Given the description of an element on the screen output the (x, y) to click on. 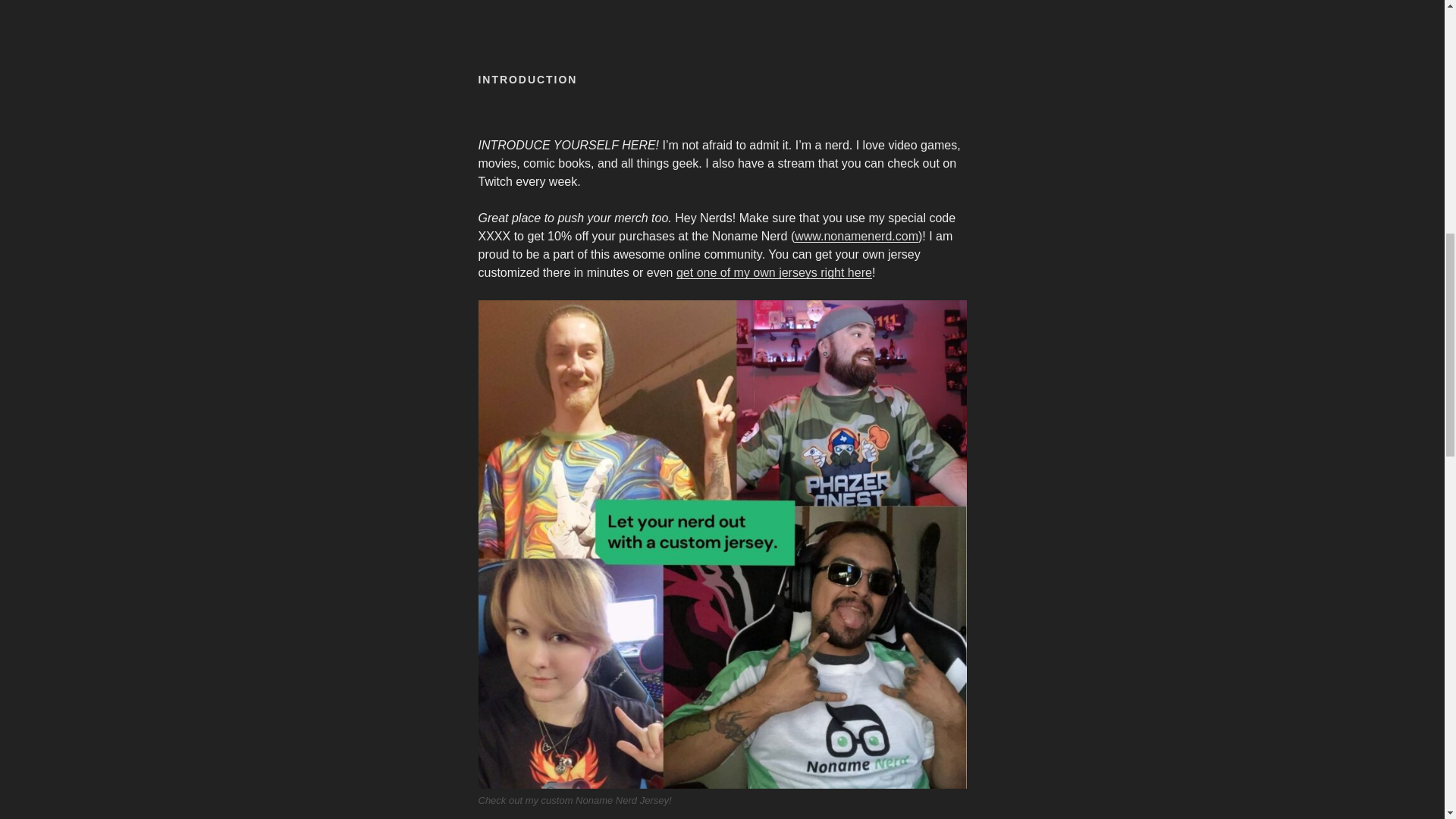
www.nonamenerd.com (856, 236)
get one of my own jerseys right here (774, 272)
